Given the description of an element on the screen output the (x, y) to click on. 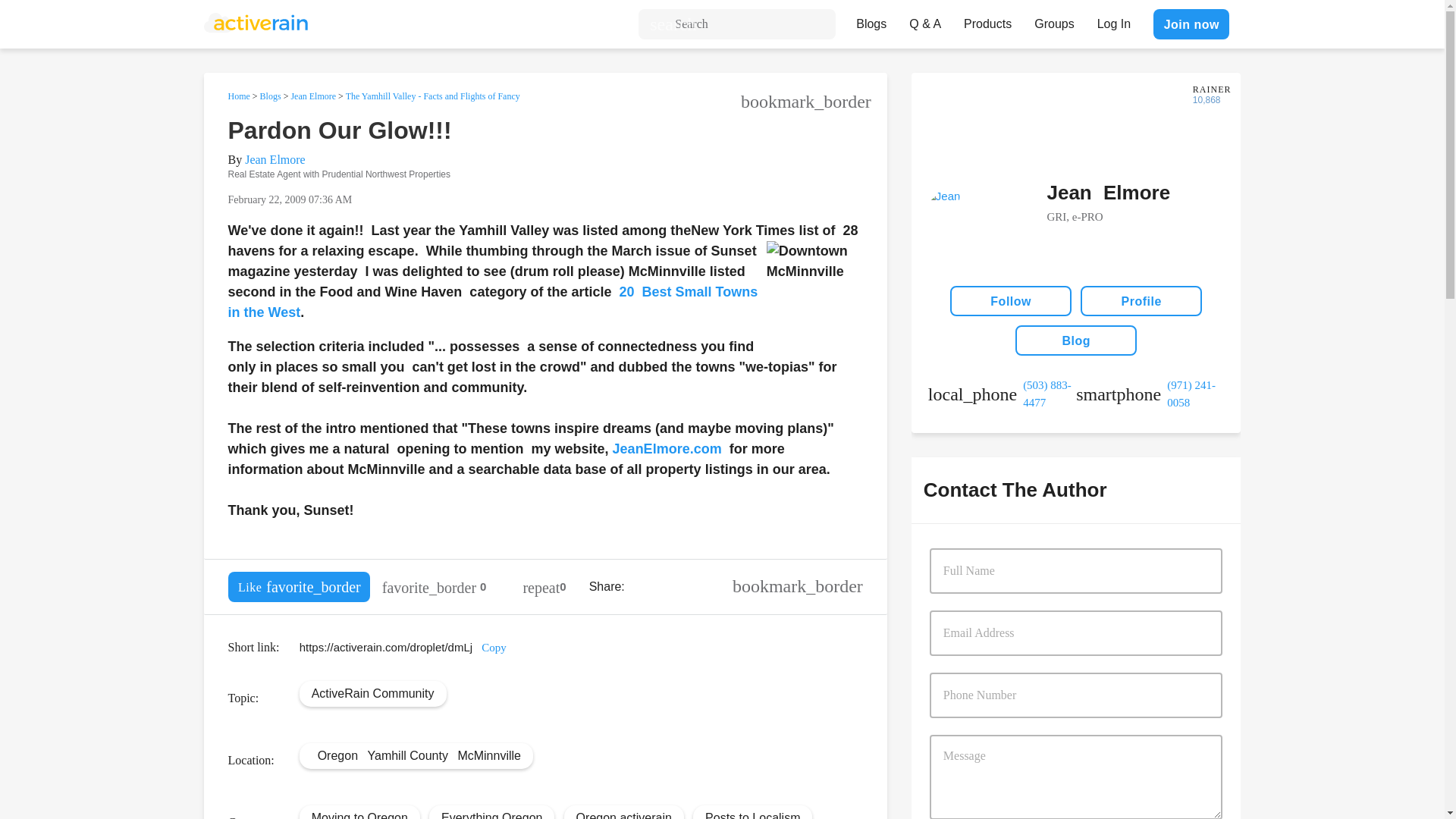
Moving to Oregon (359, 815)
work (1001, 393)
JeanElmore.com (667, 448)
McMinnville (489, 755)
The Yamhill Valley - Facts and Flights of Fancy (432, 95)
Yamhill County (406, 755)
Jean Elmore (312, 95)
Join now (1190, 24)
Oregon (337, 755)
20  Best Small Towns in the West (492, 302)
